Given the description of an element on the screen output the (x, y) to click on. 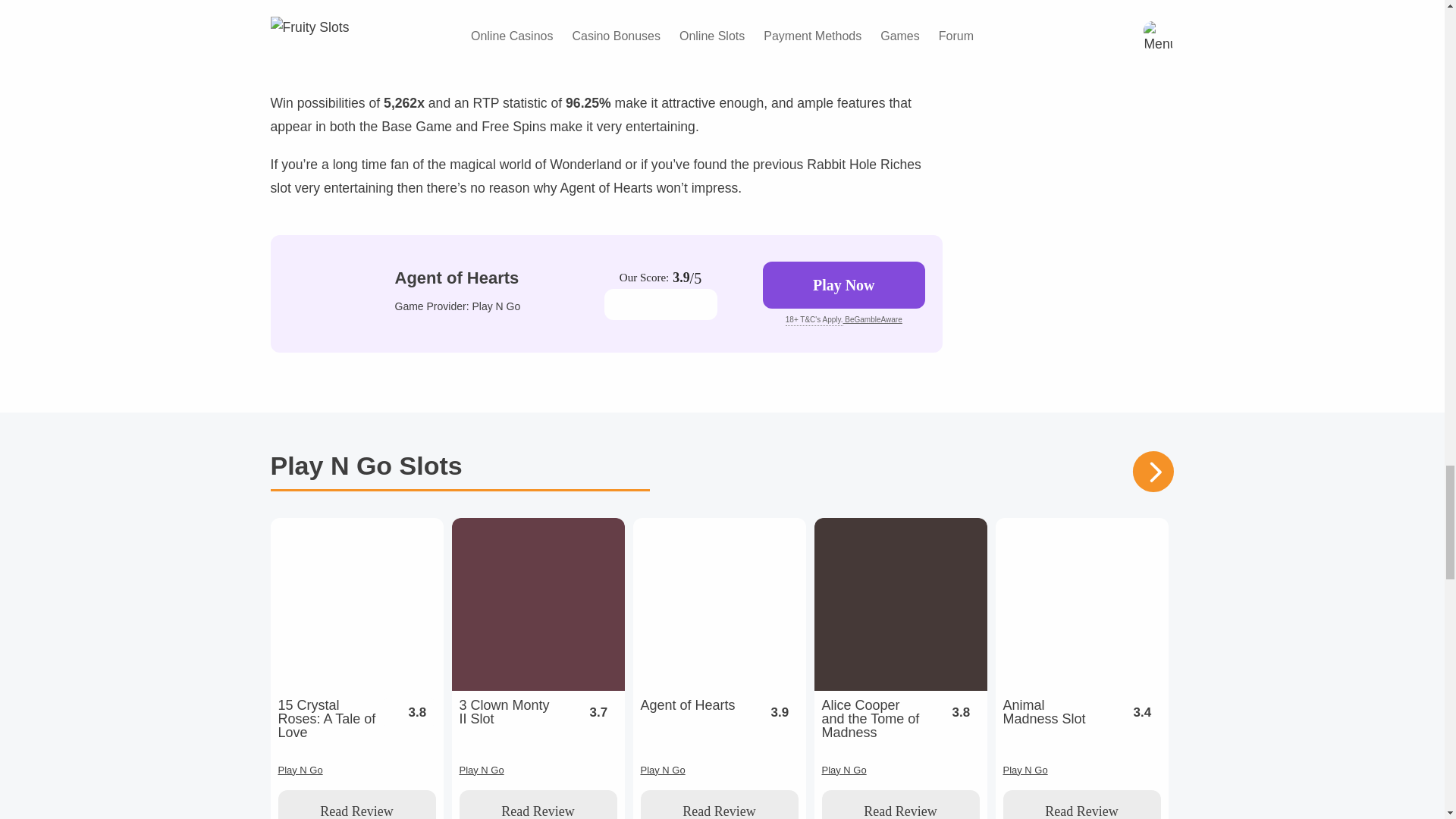
BeGambleAware (872, 319)
Play Now (843, 284)
Play N Go (495, 306)
